Given the description of an element on the screen output the (x, y) to click on. 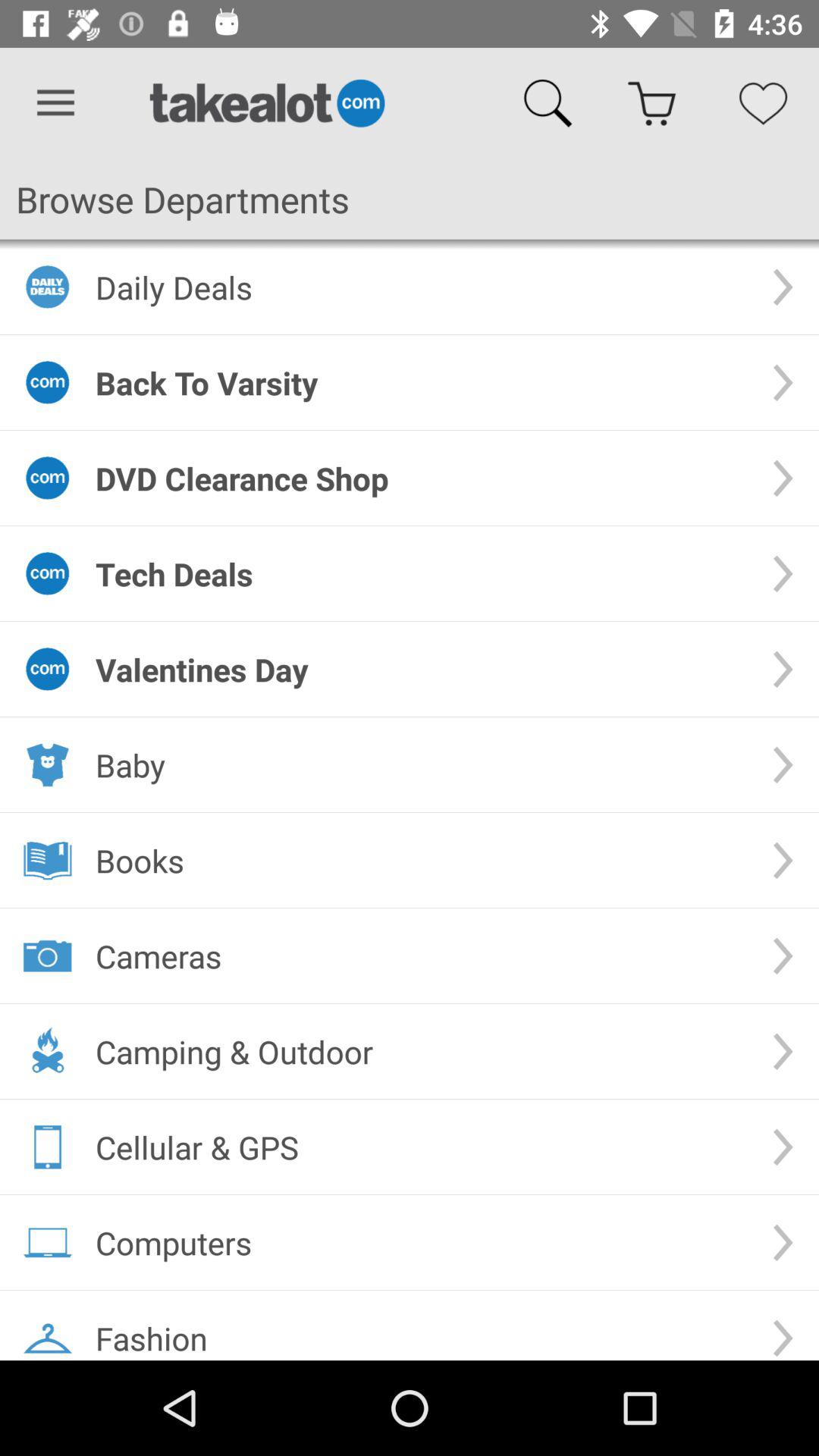
open computers item (421, 1242)
